Given the description of an element on the screen output the (x, y) to click on. 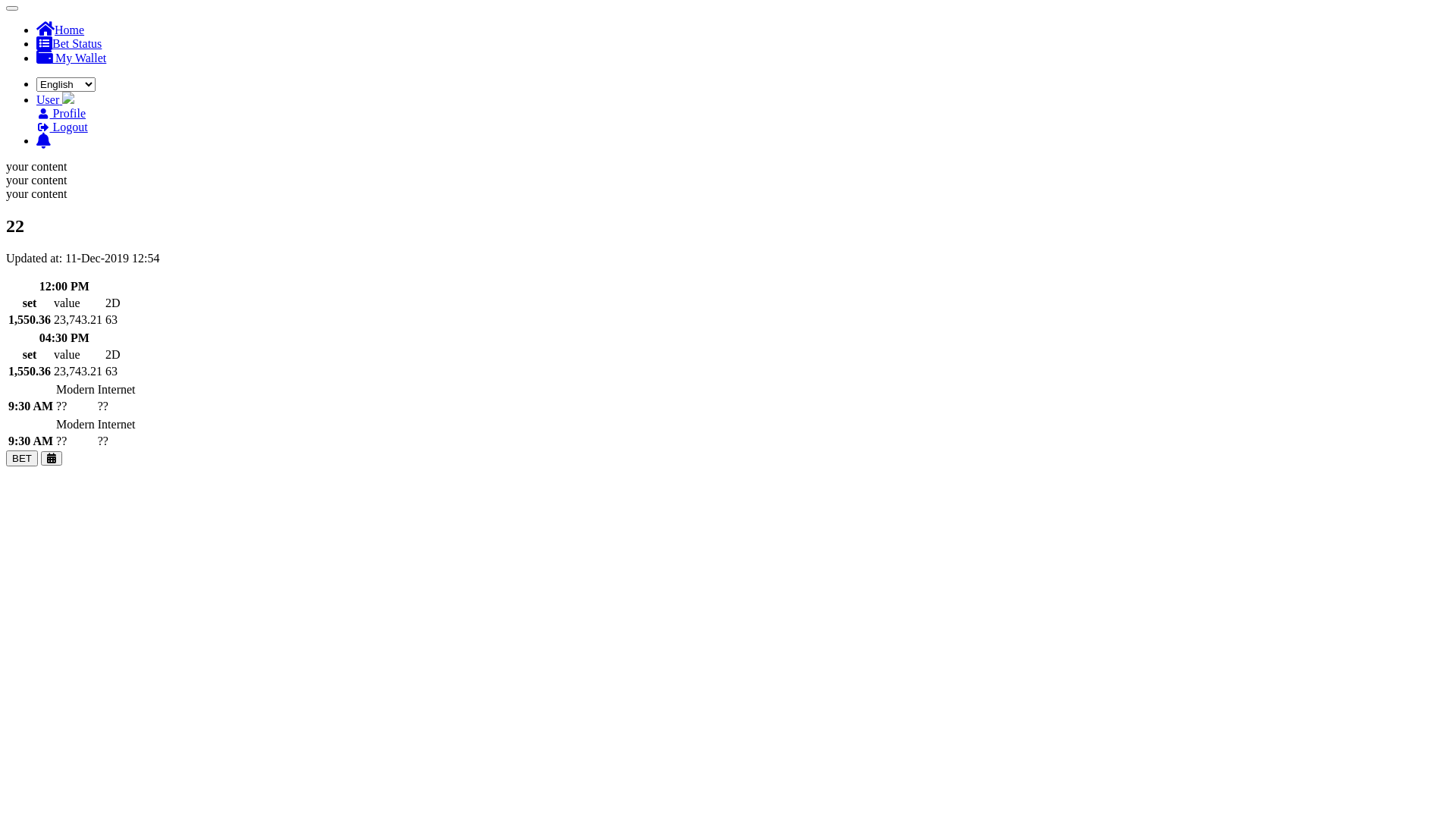
Logout Element type: text (61, 126)
My Wallet Element type: text (71, 57)
Home Element type: text (60, 29)
User Element type: text (55, 99)
BET Element type: text (21, 457)
Profile Element type: text (60, 112)
BET Element type: text (21, 458)
Bet Status Element type: text (68, 43)
